Given the description of an element on the screen output the (x, y) to click on. 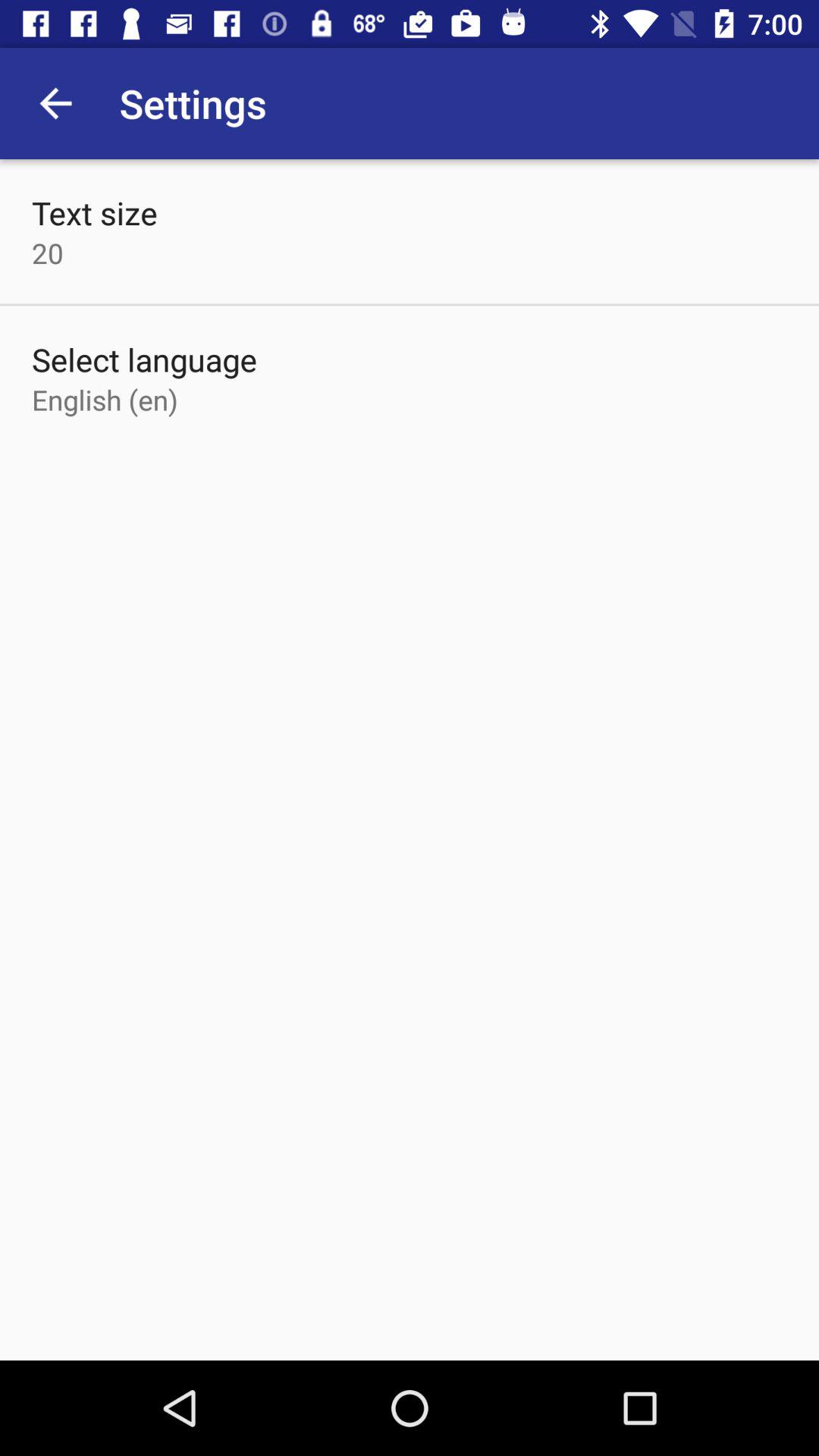
tap 20 item (47, 252)
